Given the description of an element on the screen output the (x, y) to click on. 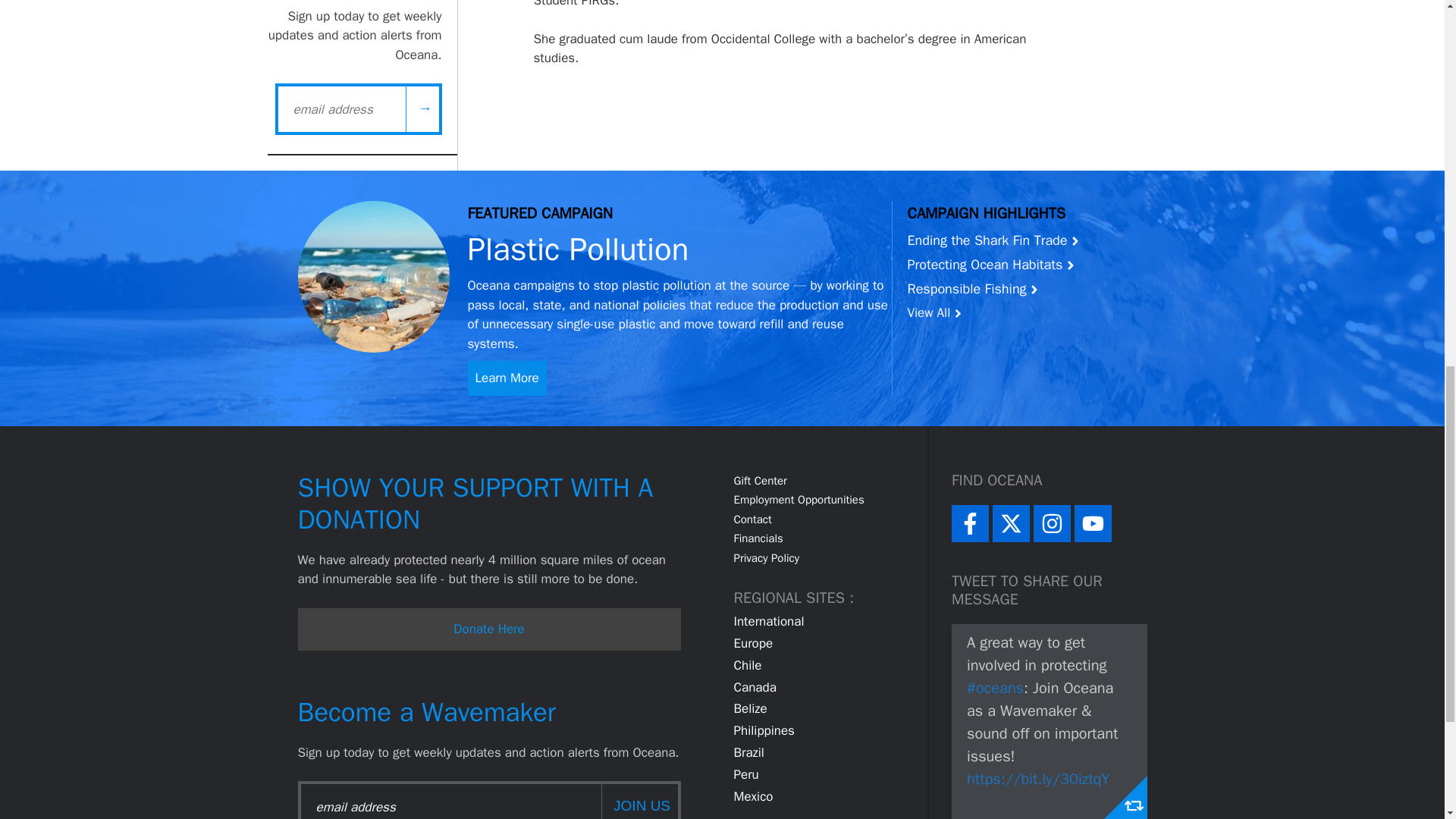
Scroll back to top (1406, 720)
JOIN US (639, 801)
